Given the description of an element on the screen output the (x, y) to click on. 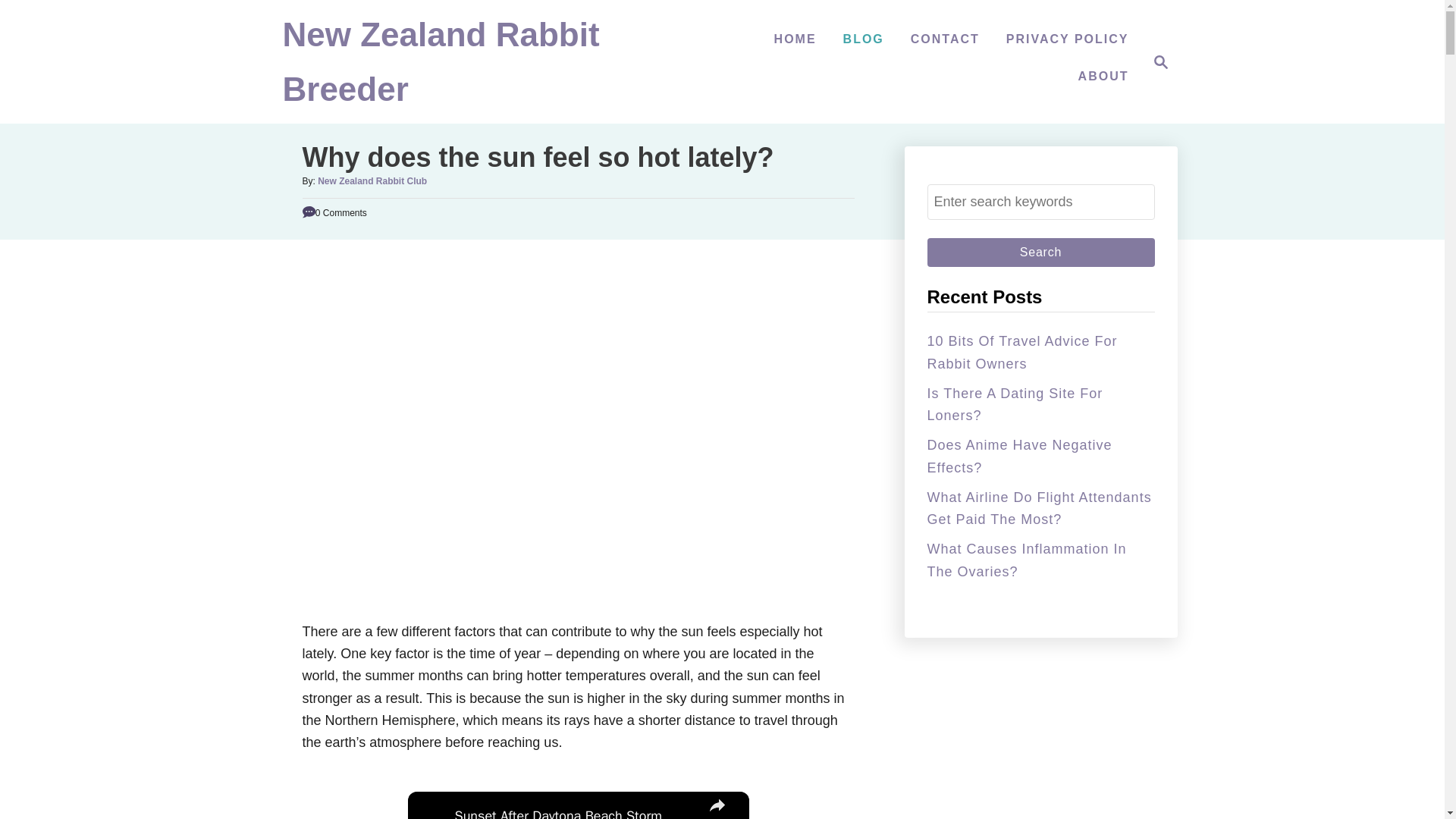
Magnifying Glass (1160, 62)
Search (1040, 252)
share (716, 805)
Search (1040, 252)
Sunset After Daytona Beach Storm (574, 812)
ABOUT (1155, 61)
CONTACT (1103, 76)
HOME (944, 39)
New Zealand Rabbit Breeder (795, 39)
